Given the description of an element on the screen output the (x, y) to click on. 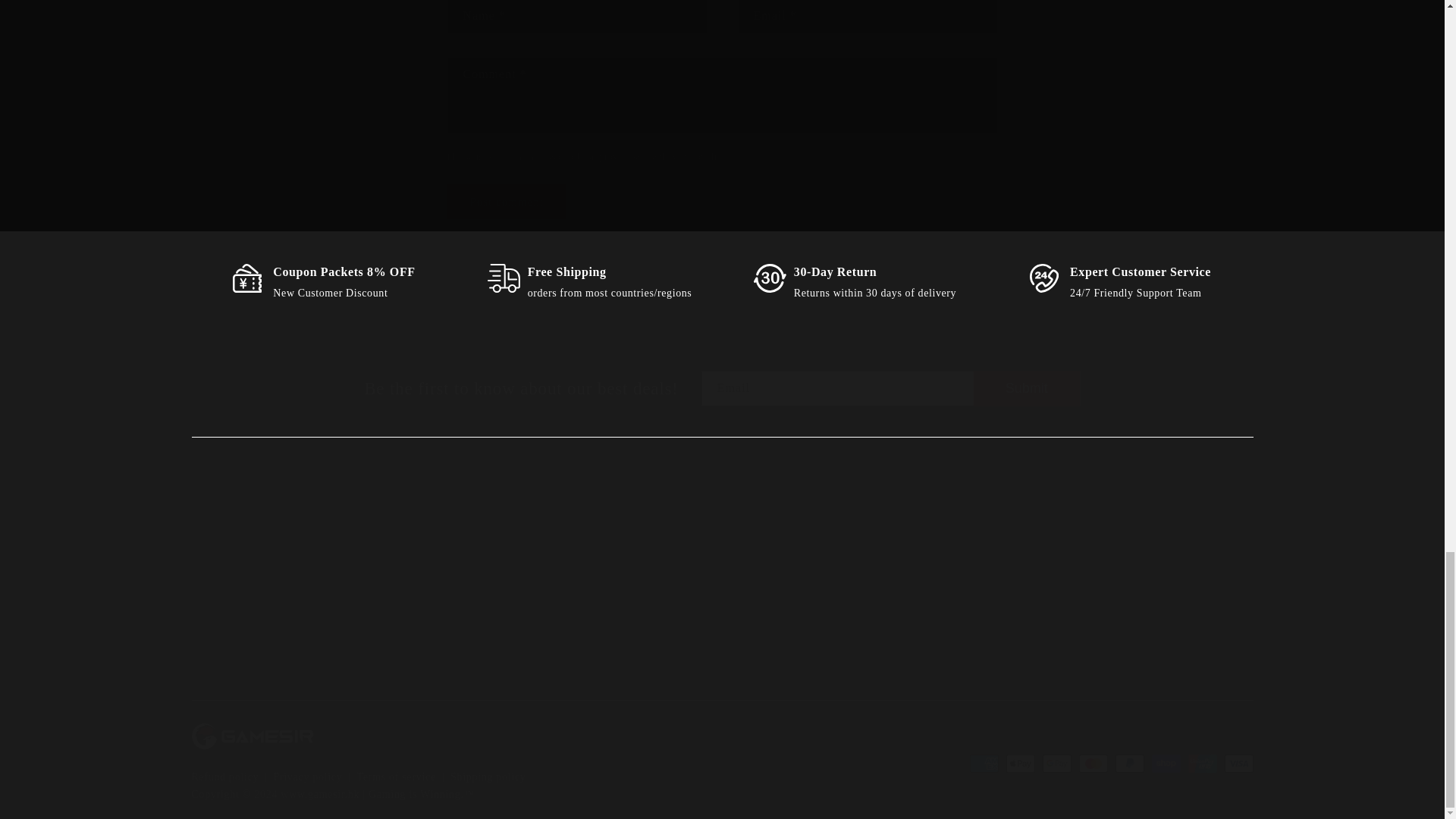
Post comment (506, 201)
About us (504, 554)
All Products Tutorials (280, 579)
Carees (340, 591)
Submit (499, 605)
Post comment (848, 591)
Contact Us (595, 591)
Our Story (1027, 388)
